Given the description of an element on the screen output the (x, y) to click on. 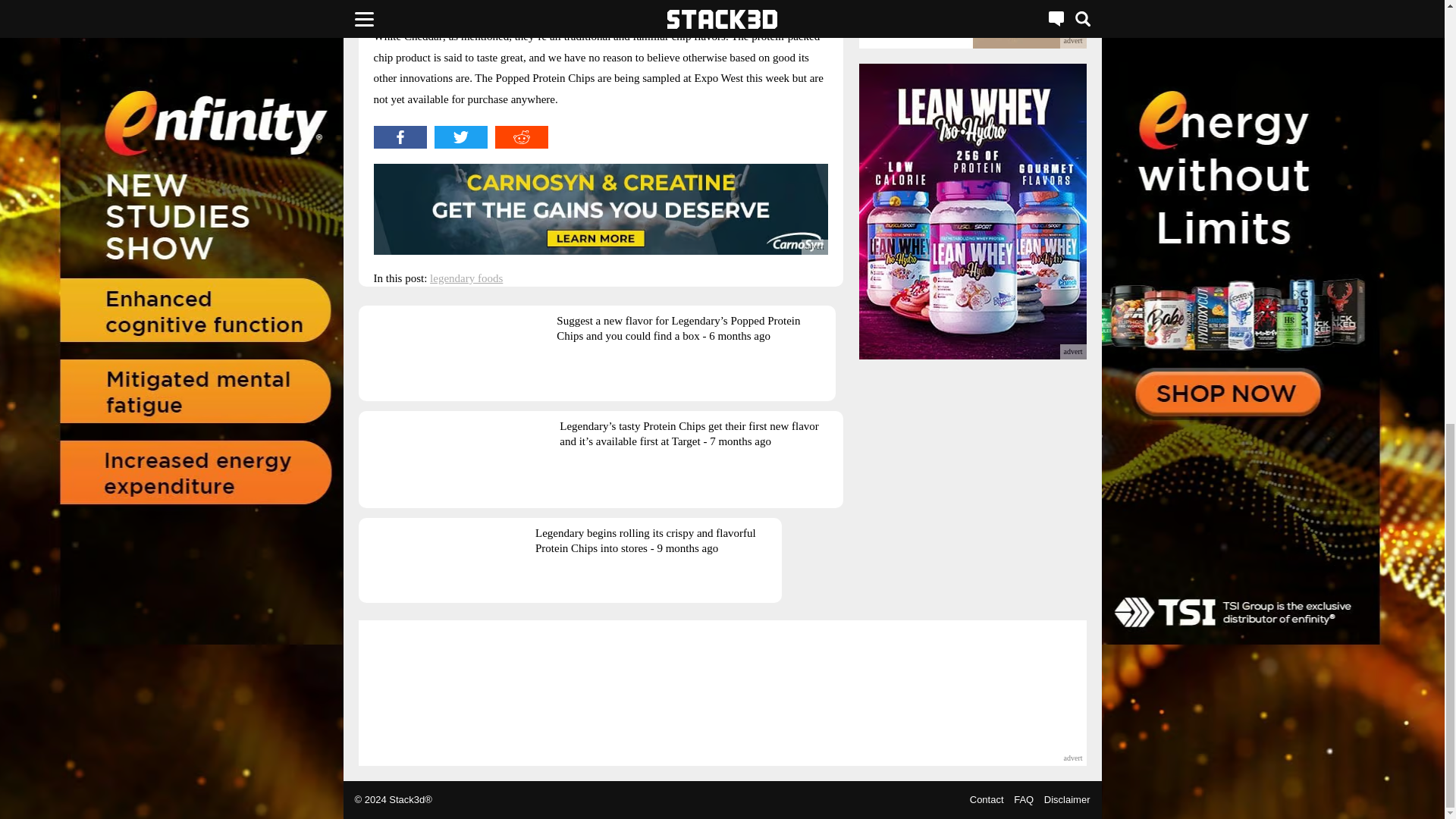
legendary foods (465, 277)
